Given the description of an element on the screen output the (x, y) to click on. 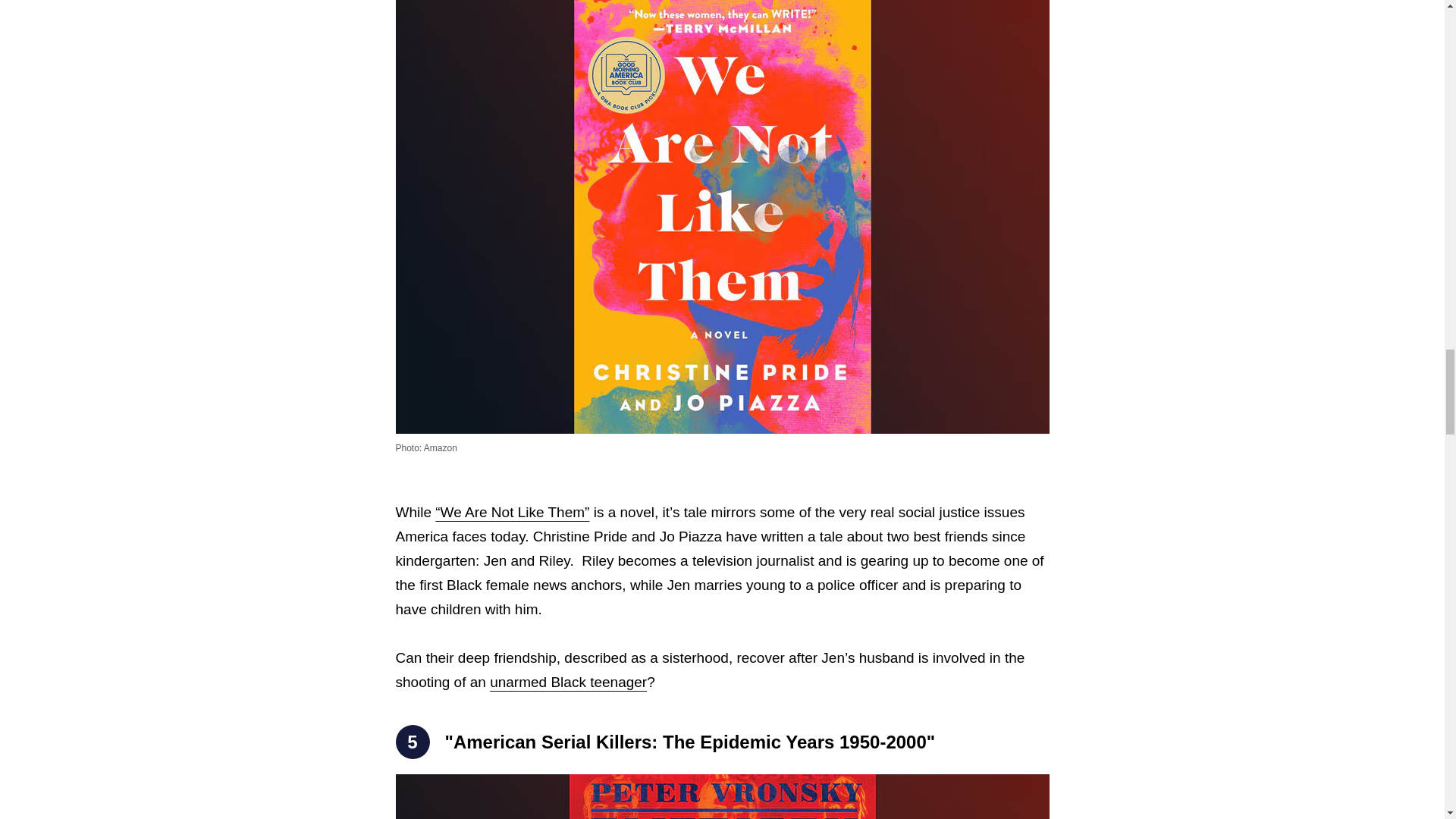
unarmed Black teenager (567, 682)
